Given the description of an element on the screen output the (x, y) to click on. 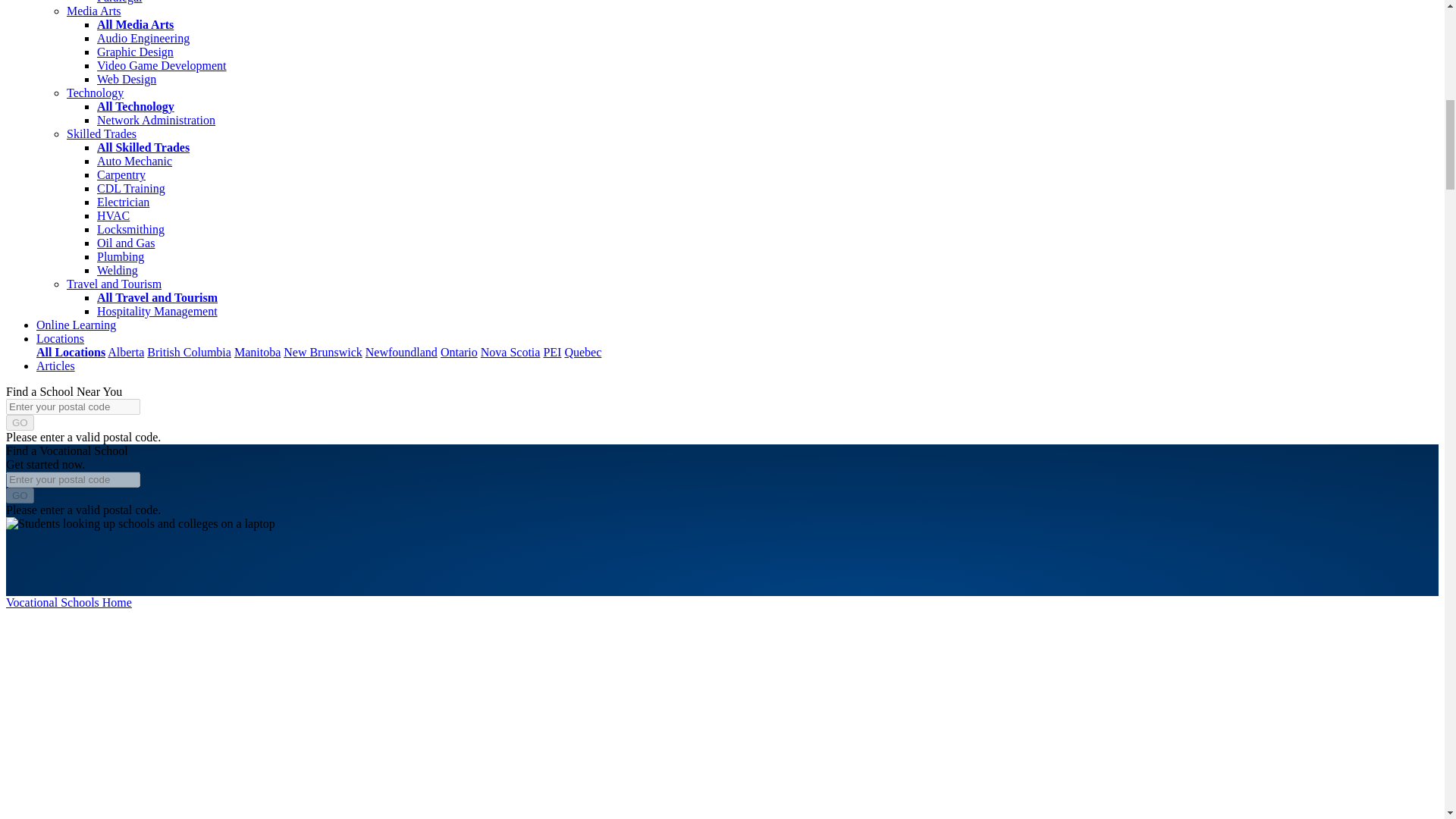
Home (68, 602)
